Given the description of an element on the screen output the (x, y) to click on. 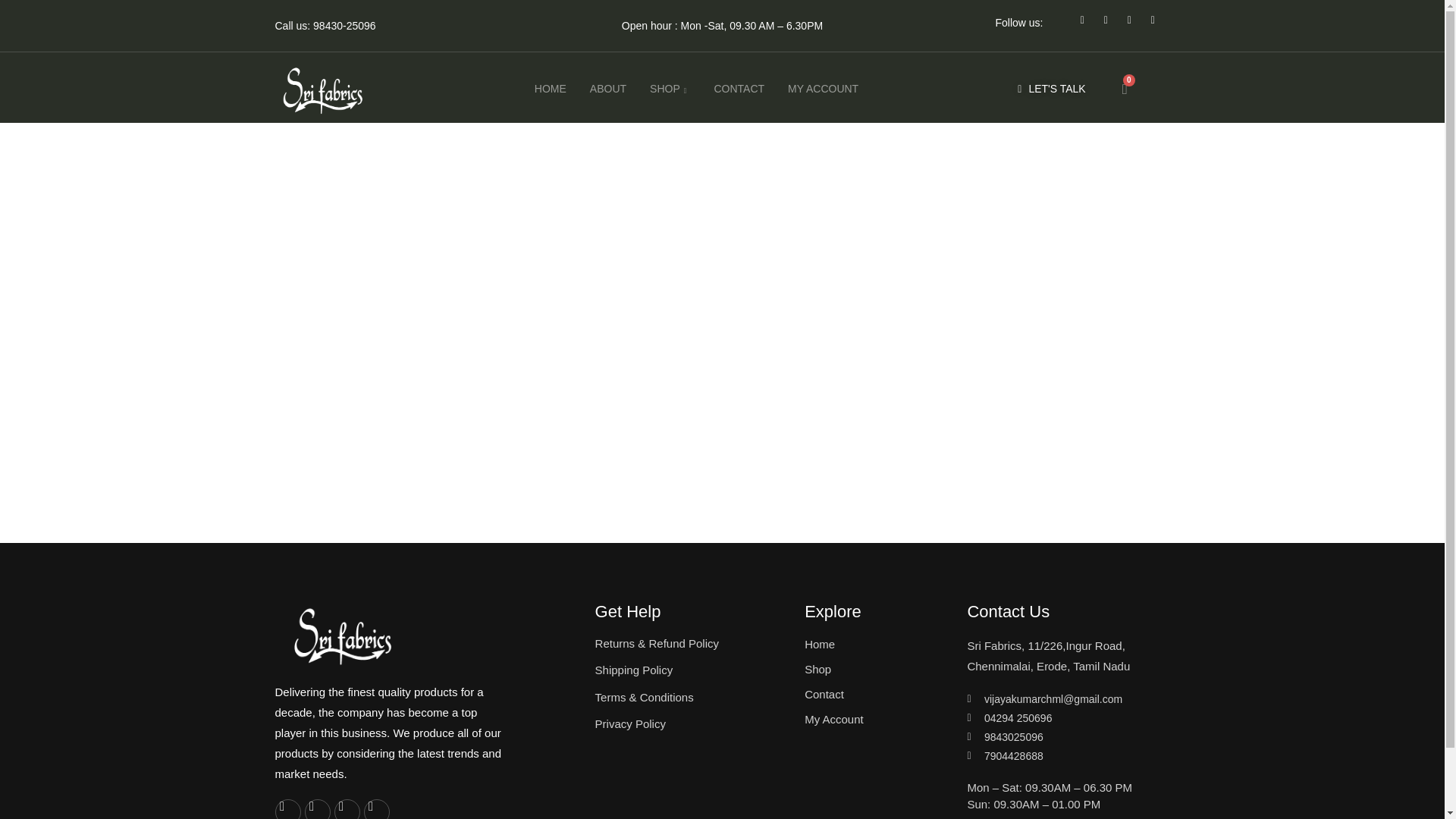
CONTACT (734, 89)
Shop (873, 669)
Home (873, 644)
My Account (873, 719)
LET'S TALK (1050, 89)
Call us: 98430-25096 (325, 25)
ABOUT (603, 89)
MY ACCOUNT (818, 89)
Privacy Policy (692, 724)
0 (1124, 88)
Shipping Policy (692, 670)
Contact (873, 694)
HOME (545, 89)
SHOP (665, 89)
